Given the description of an element on the screen output the (x, y) to click on. 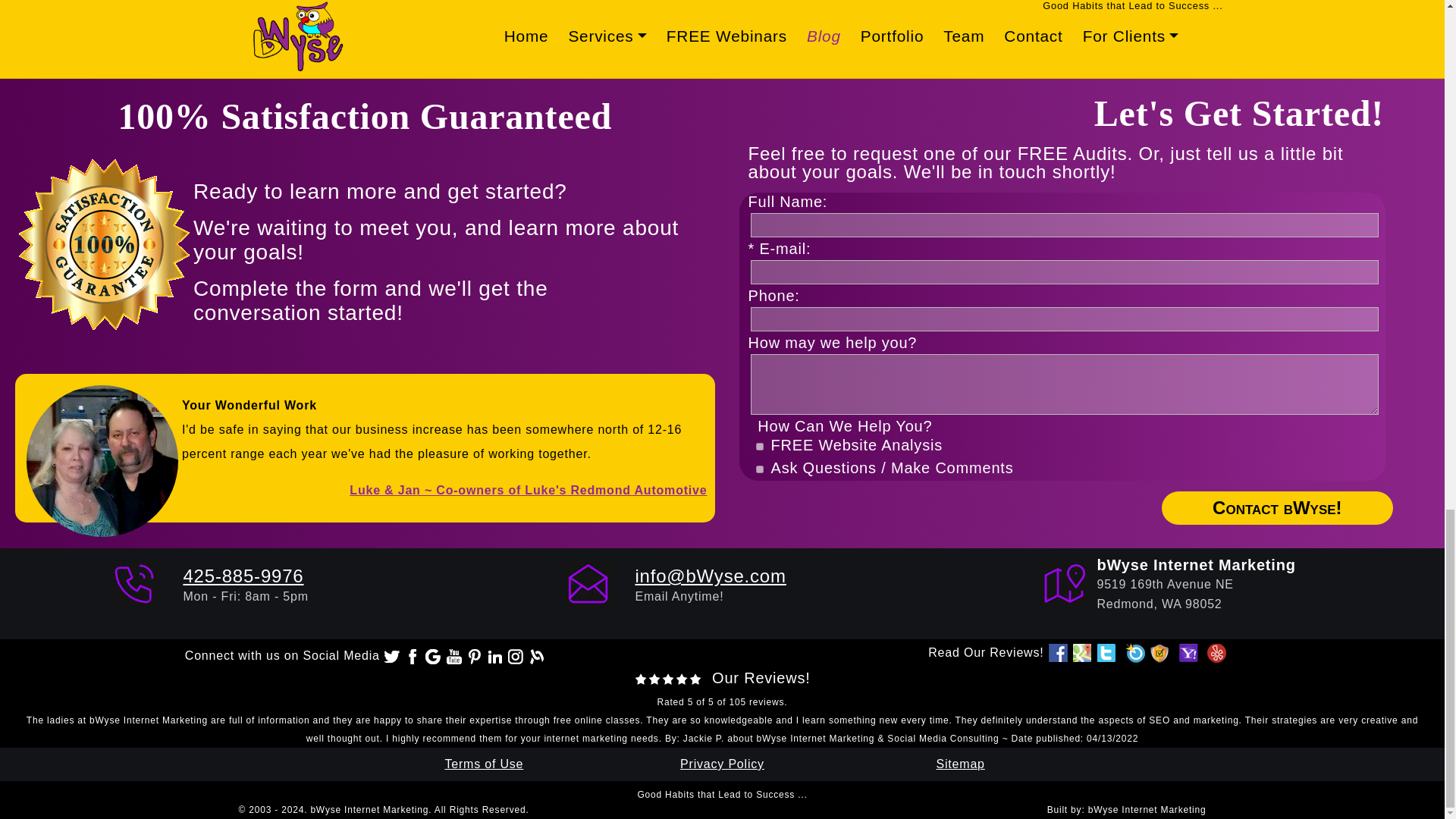
Contact bWyse! (1277, 507)
33 (758, 469)
34 (758, 446)
